Given the description of an element on the screen output the (x, y) to click on. 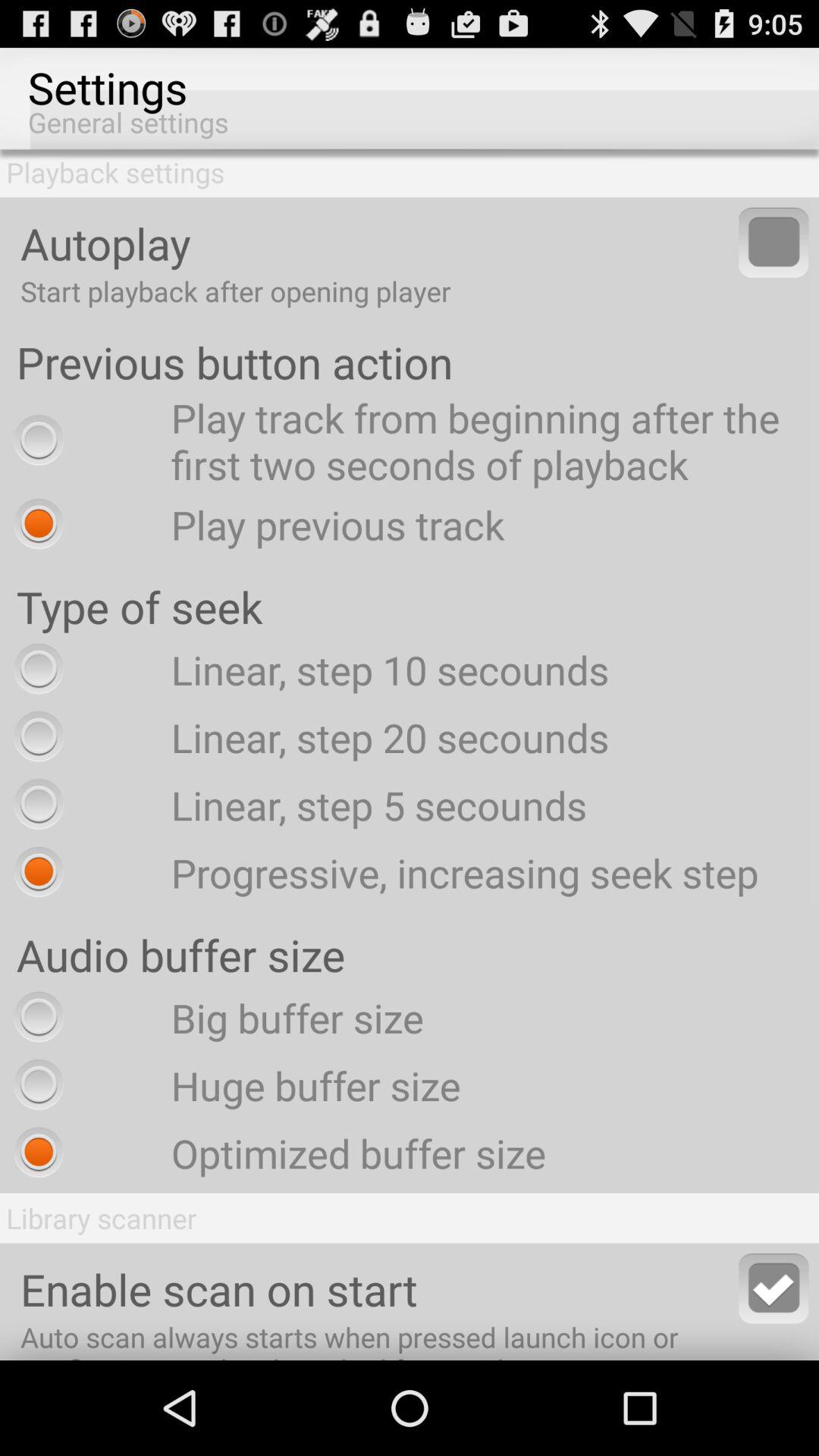
autoplay switch (773, 242)
